Given the description of an element on the screen output the (x, y) to click on. 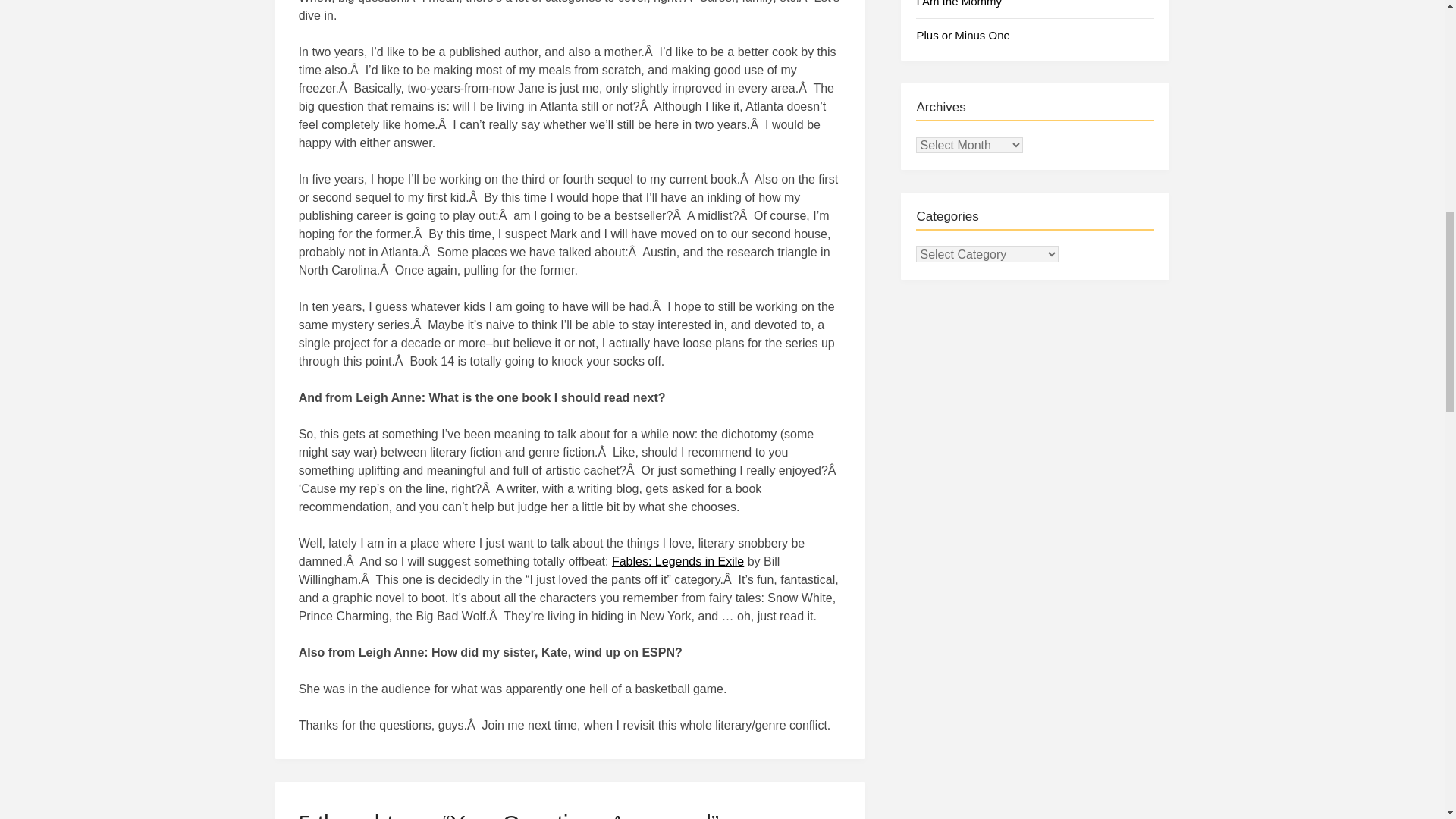
I Am the Mommy (958, 3)
Fables: Legends in Exile (677, 561)
Plus or Minus One (962, 34)
